Given the description of an element on the screen output the (x, y) to click on. 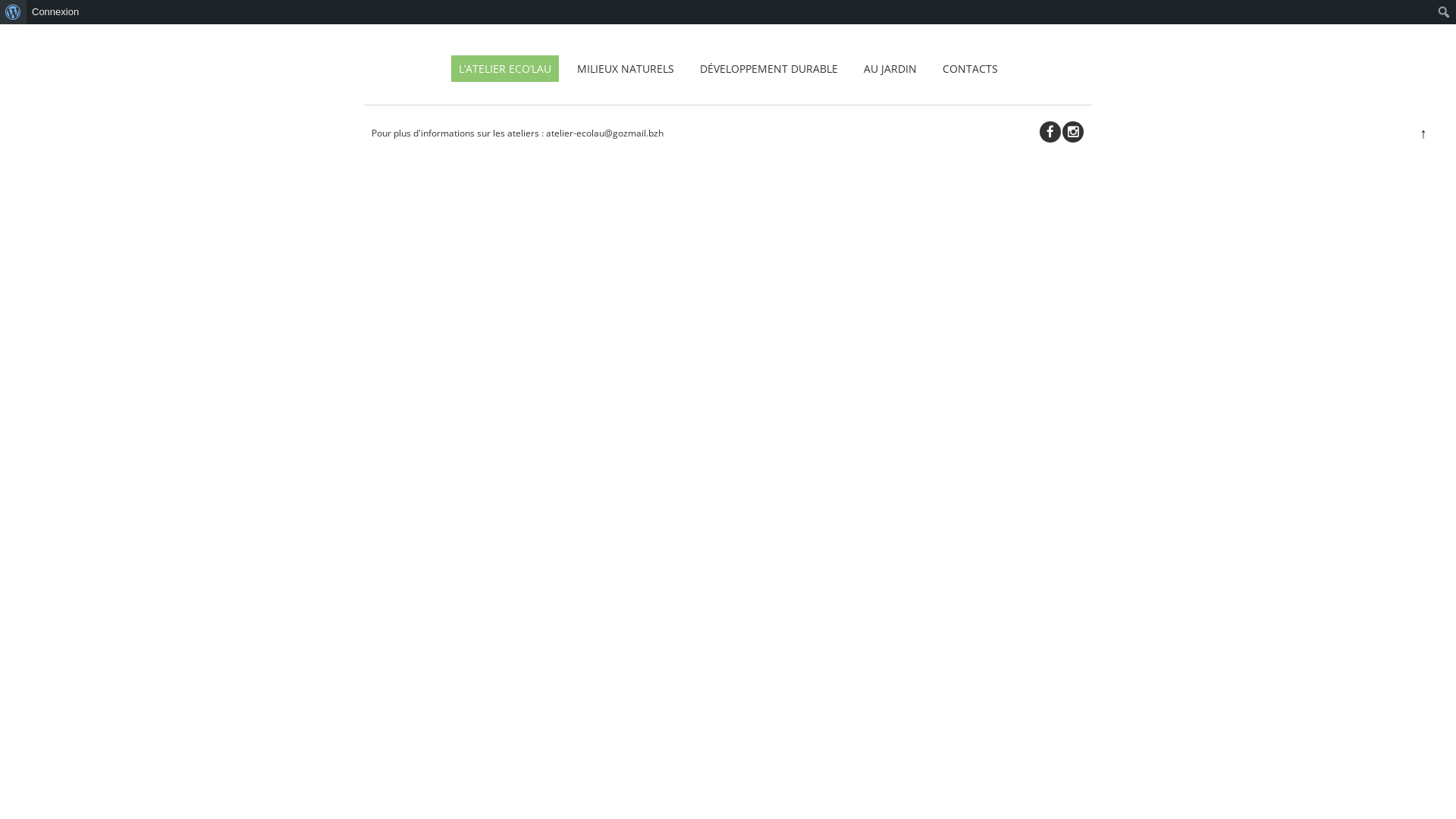
MILIEUX NATURELS Element type: text (624, 68)
instagram Element type: hover (1072, 131)
AU JARDIN Element type: text (889, 68)
Rechercher Element type: text (25, 12)
facebook Element type: hover (1049, 131)
Connexion Element type: text (55, 12)
CONTACTS Element type: text (969, 68)
